Given the description of an element on the screen output the (x, y) to click on. 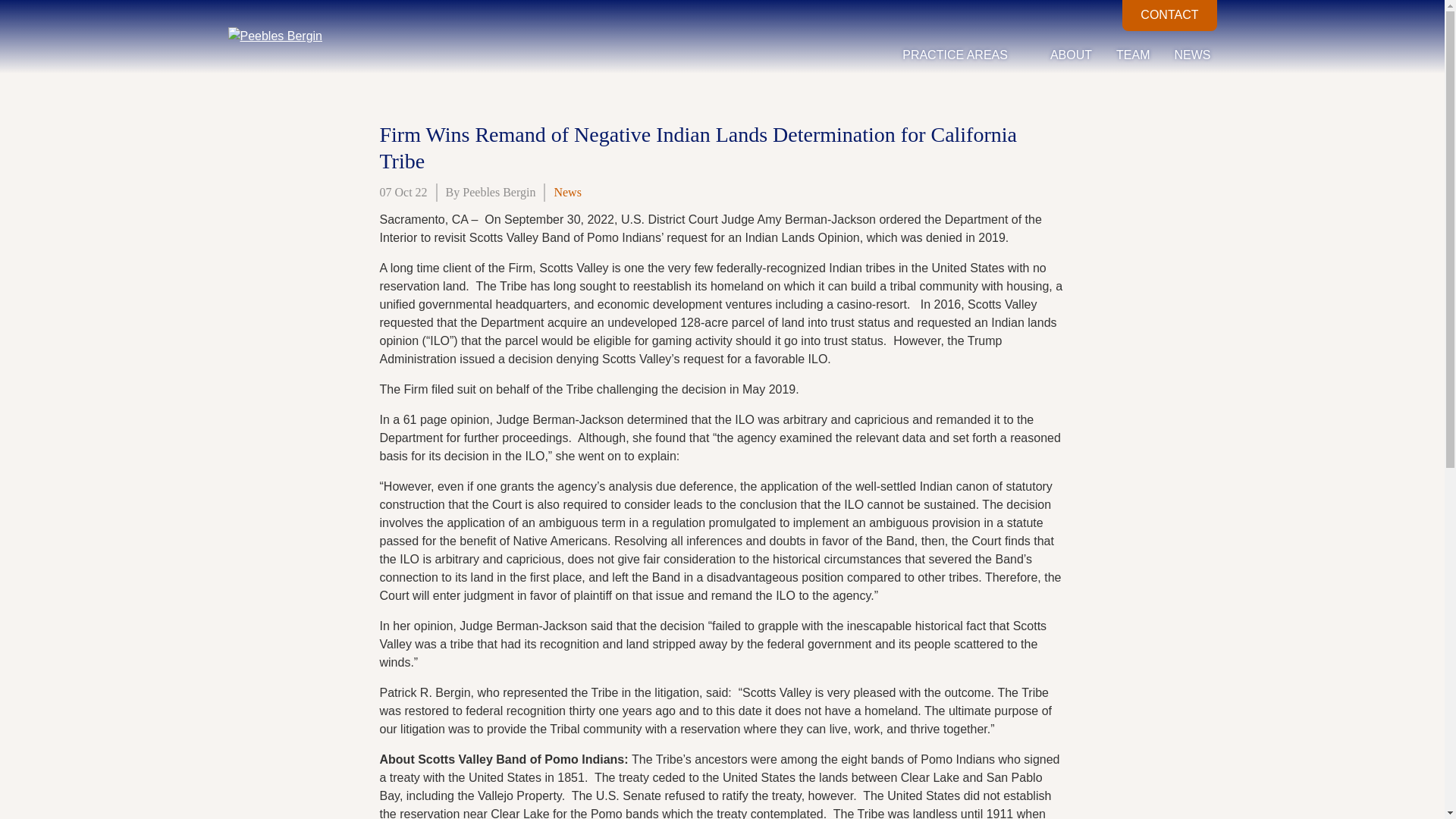
ABOUT (1070, 54)
PRACTICE AREAS (964, 54)
CONTACT (1168, 15)
TEAM (1132, 54)
Show Search (1085, 15)
NEWS (1191, 54)
News (566, 192)
